Given the description of an element on the screen output the (x, y) to click on. 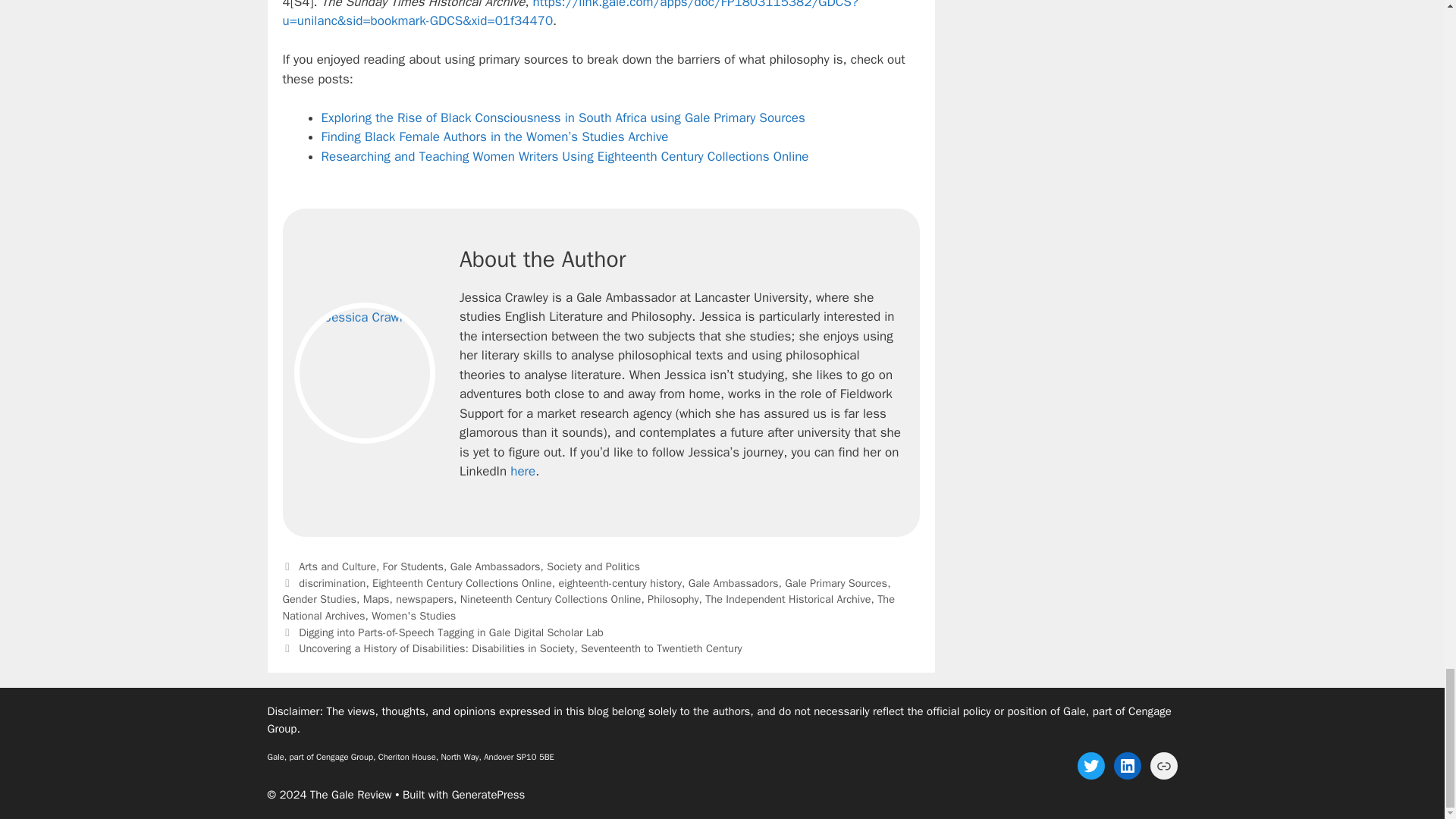
For Students (413, 566)
Society and Politics (593, 566)
Arts and Culture (336, 566)
Gale Ambassadors (494, 566)
here (523, 471)
Eighteenth Century Collections Online (461, 582)
eighteenth-century history (619, 582)
discrimination (331, 582)
